Given the description of an element on the screen output the (x, y) to click on. 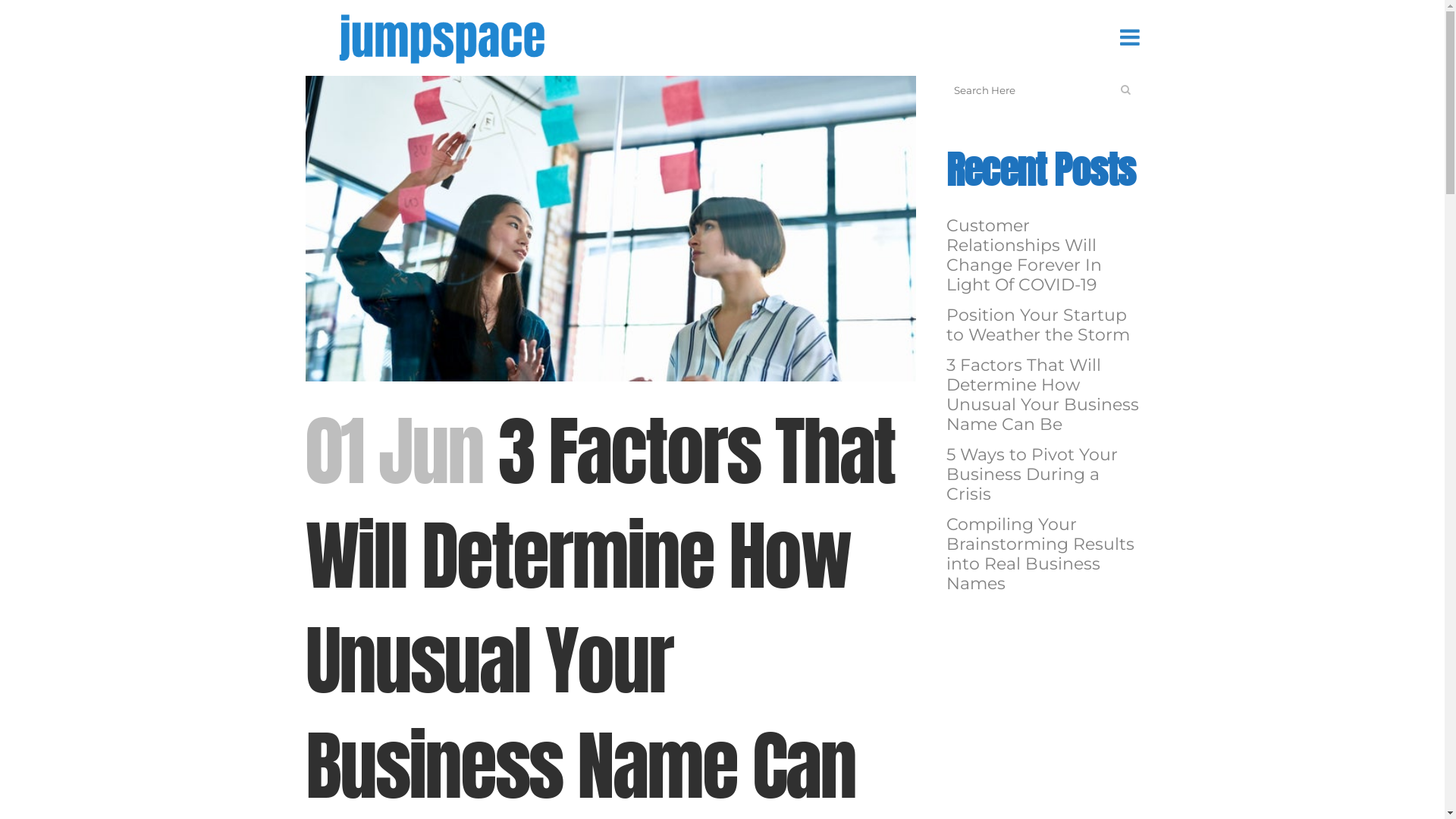
5 Ways to Pivot Your Business During a Crisis Element type: text (1031, 474)
Position Your Startup to Weather the Storm Element type: text (1037, 324)
